Given the description of an element on the screen output the (x, y) to click on. 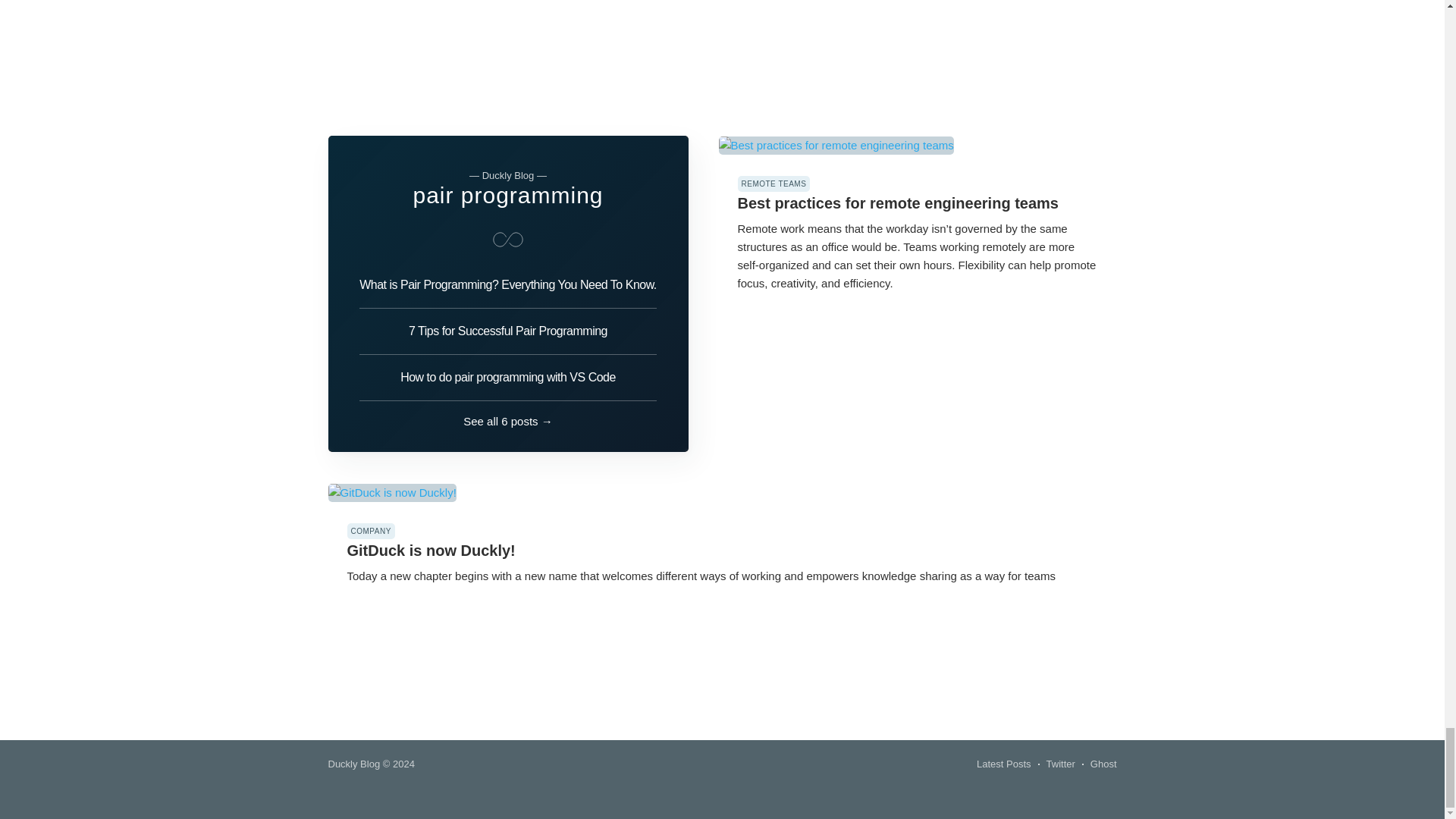
7 Tips for Successful Pair Programming (507, 331)
Latest Posts (1003, 764)
pair programming (507, 195)
How to do pair programming with VS Code (507, 377)
Twitter (1060, 764)
What is Pair Programming? Everything You Need To Know. (507, 289)
Ghost (1103, 764)
Duckly Blog (353, 763)
